Given the description of an element on the screen output the (x, y) to click on. 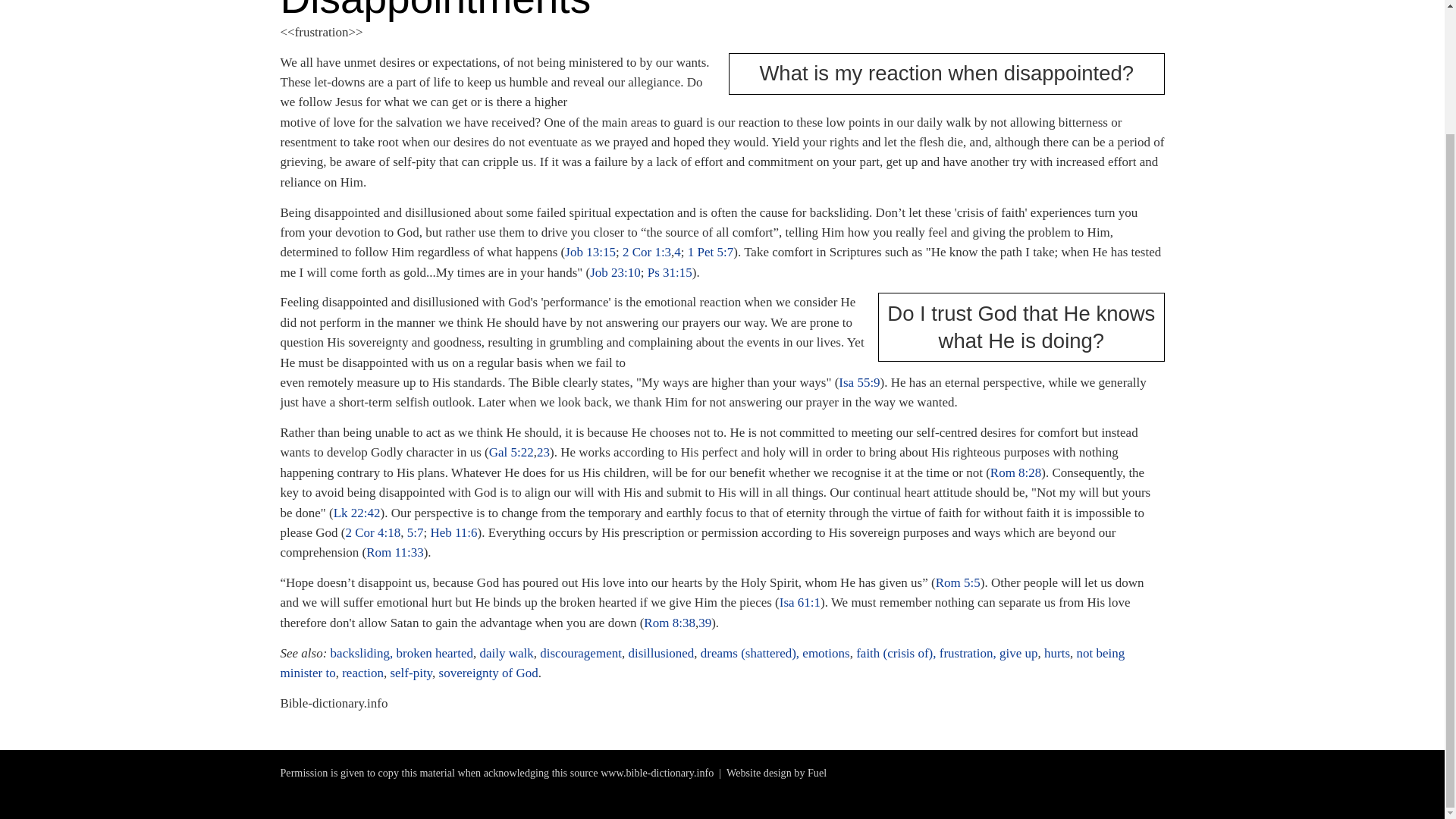
Isa 55:9 (858, 382)
Lk 22:42 (356, 513)
Gal 5:22 (511, 452)
1 Pet 5:7 (710, 251)
Rom 8:38 (669, 622)
Rom 5:5 (957, 582)
, give up (1015, 653)
sovereignty of God (488, 672)
5:7 (415, 532)
hurts (1056, 653)
